Given the description of an element on the screen output the (x, y) to click on. 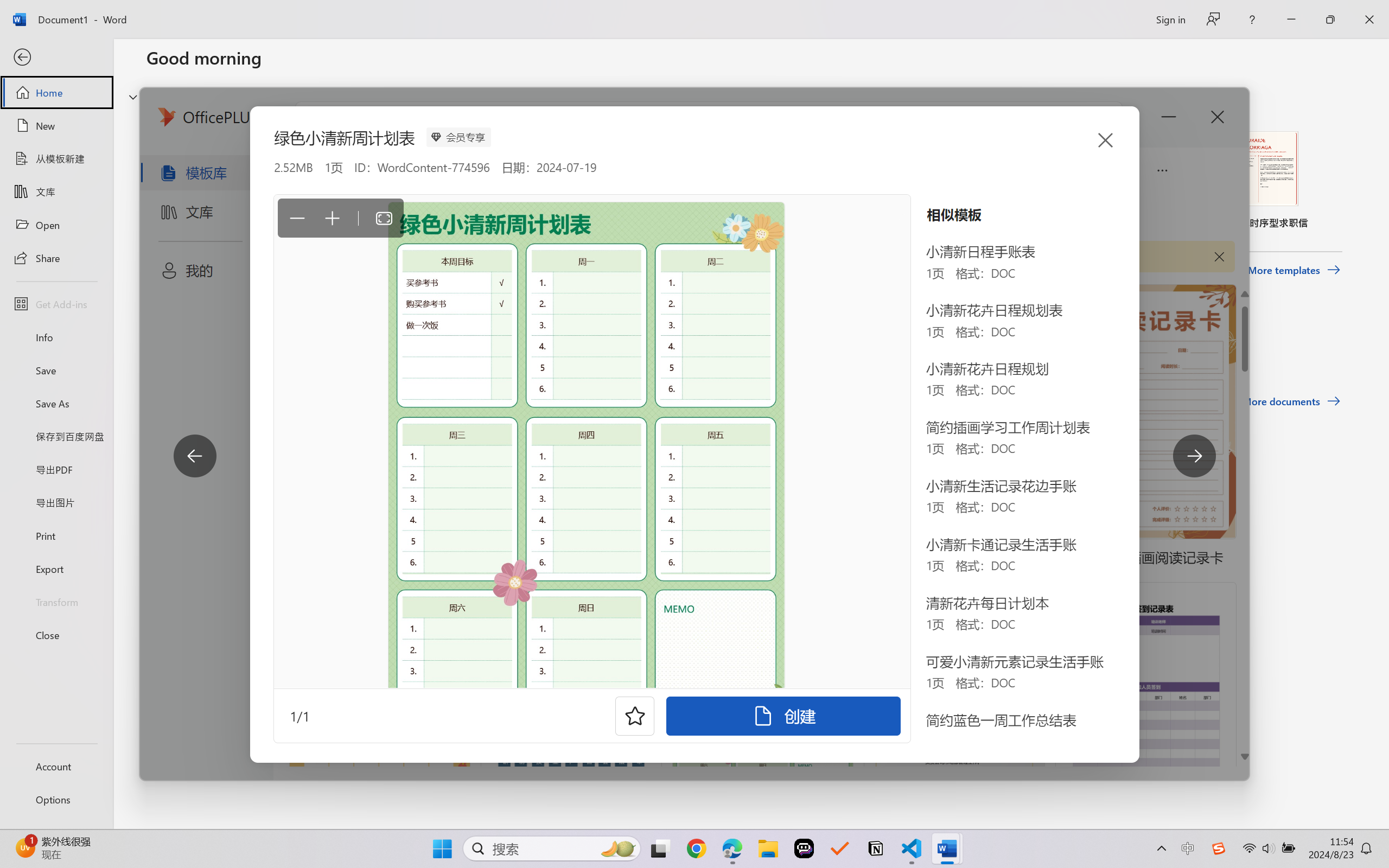
More documents (1290, 401)
Account (56, 765)
Sign in (1170, 18)
Export (56, 568)
